Given the description of an element on the screen output the (x, y) to click on. 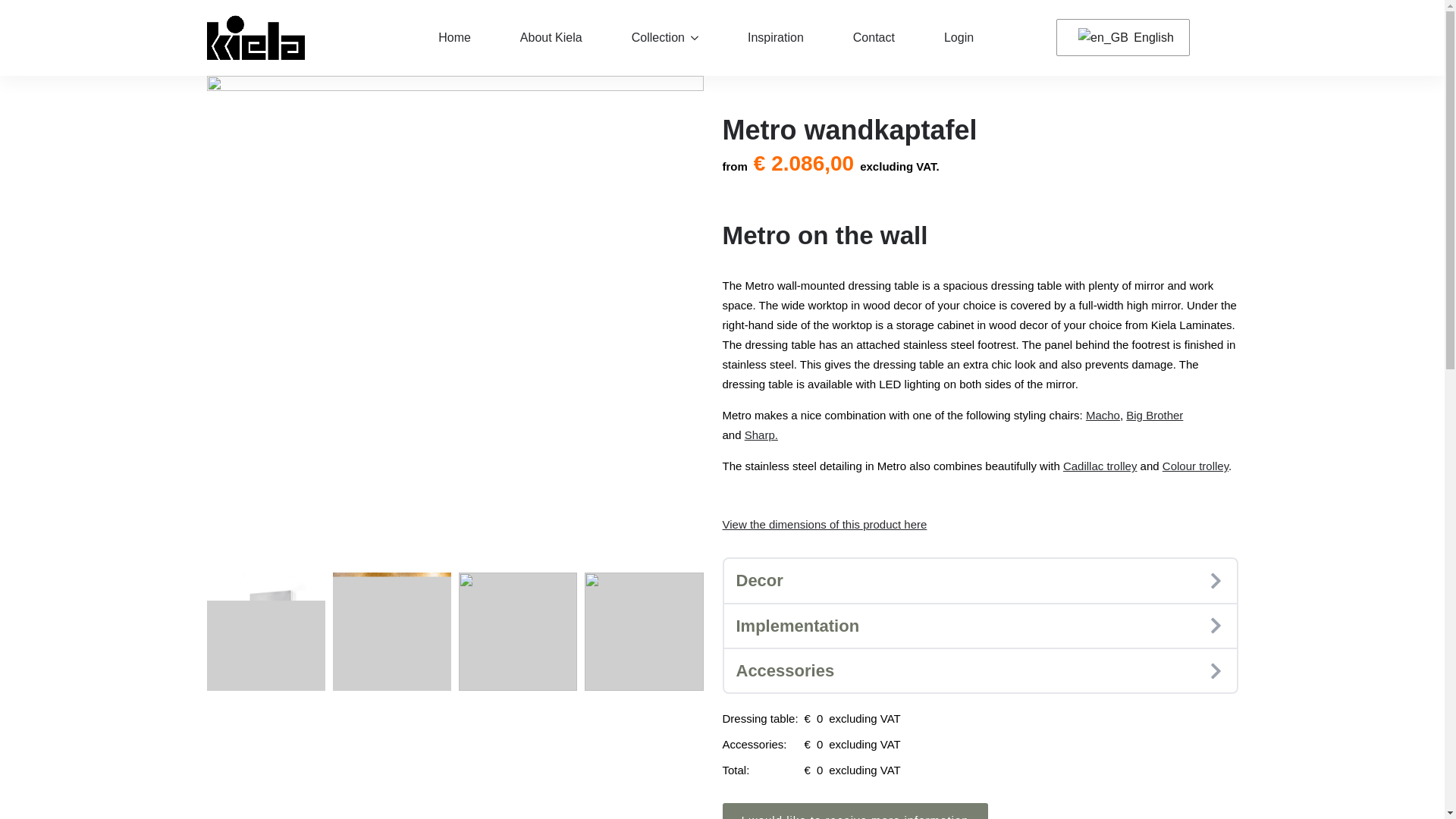
About Kiela (550, 37)
English (1120, 37)
English (1120, 37)
Inspiration (775, 37)
Home (454, 37)
Login (958, 37)
Contact (874, 37)
English (1103, 37)
Collection (649, 37)
